Given the description of an element on the screen output the (x, y) to click on. 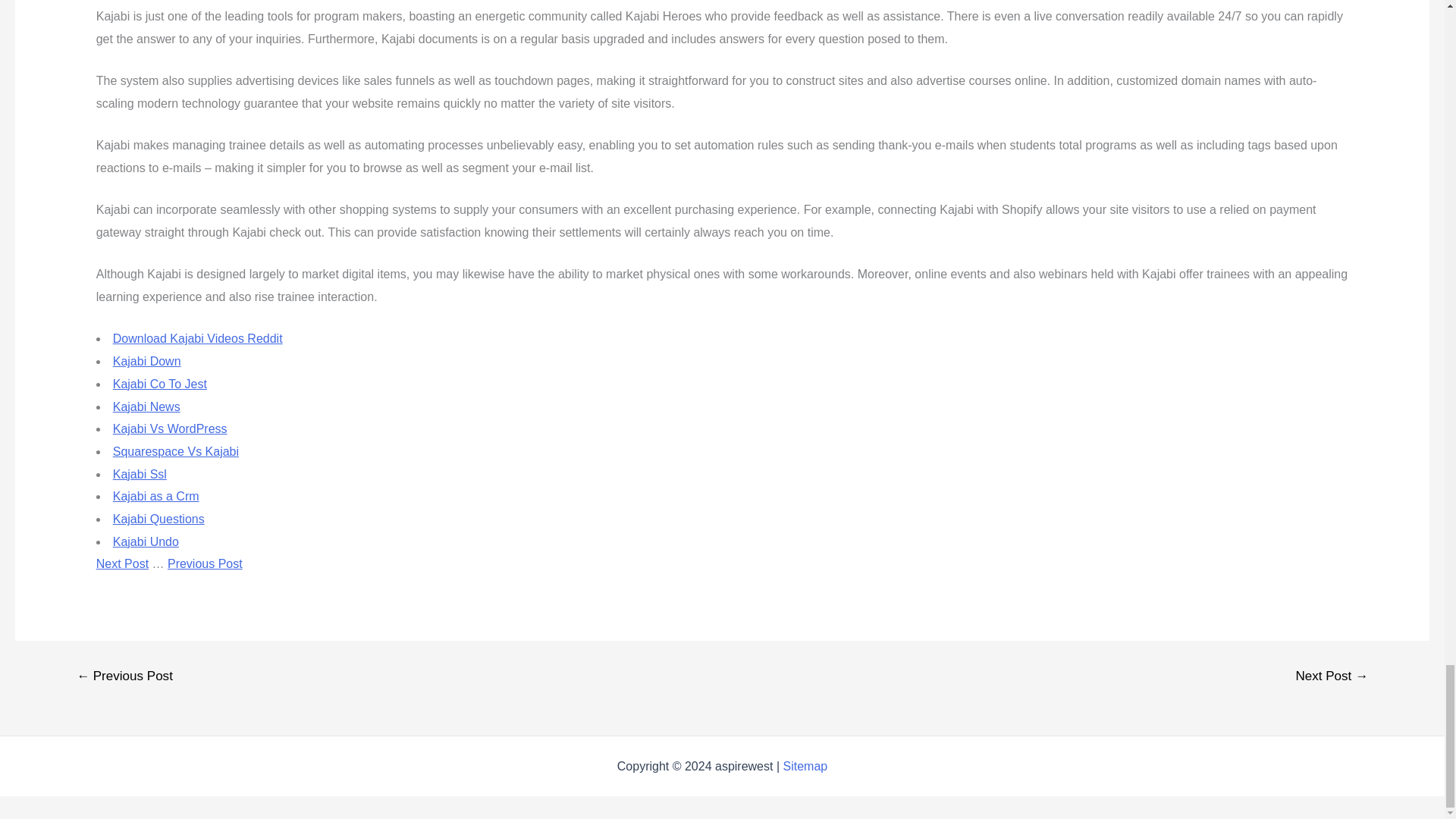
Download Kajabi Videos Reddit (197, 338)
Sitemap (805, 766)
Kajabi News (146, 406)
Download Kajabi Videos Reddit (197, 338)
Kajabi Questions (159, 518)
Kajabi Vs WordPress (170, 428)
Kajabi Ssl (140, 473)
Squarespace Vs Kajabi (175, 451)
Kajabi Down (146, 360)
Kajabi Undo (146, 541)
